Given the description of an element on the screen output the (x, y) to click on. 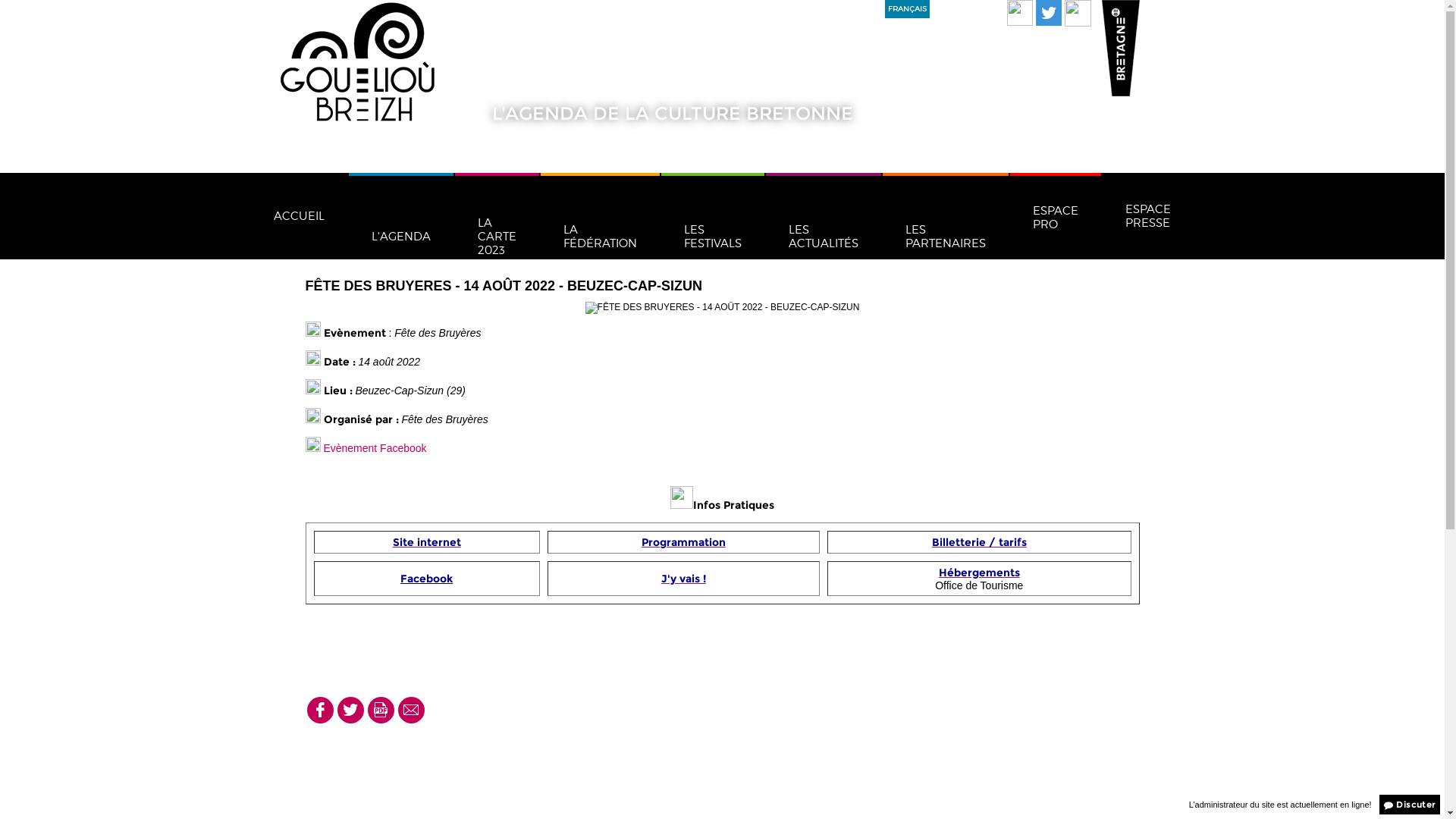
Site internet Element type: text (426, 542)
Twitter Element type: text (349, 709)
ACCUEIL Element type: text (299, 215)
Facebook - Partager Element type: text (319, 709)
E-mail Element type: text (410, 709)
Programmation Element type: text (683, 542)
LES PARTENAIRES Element type: text (945, 215)
ESPACE PRESSE Element type: text (1147, 215)
Billetterie / tarifs Element type: text (978, 542)
ESPACE PRO Element type: text (1055, 215)
Facebook Element type: text (426, 578)
L'AGENDA Element type: text (400, 215)
PDF Element type: text (380, 709)
J'y vais ! Element type: text (683, 578)
LA CARTE 2023 Element type: text (497, 215)
LES FESTIVALS Element type: text (712, 215)
